Given the description of an element on the screen output the (x, y) to click on. 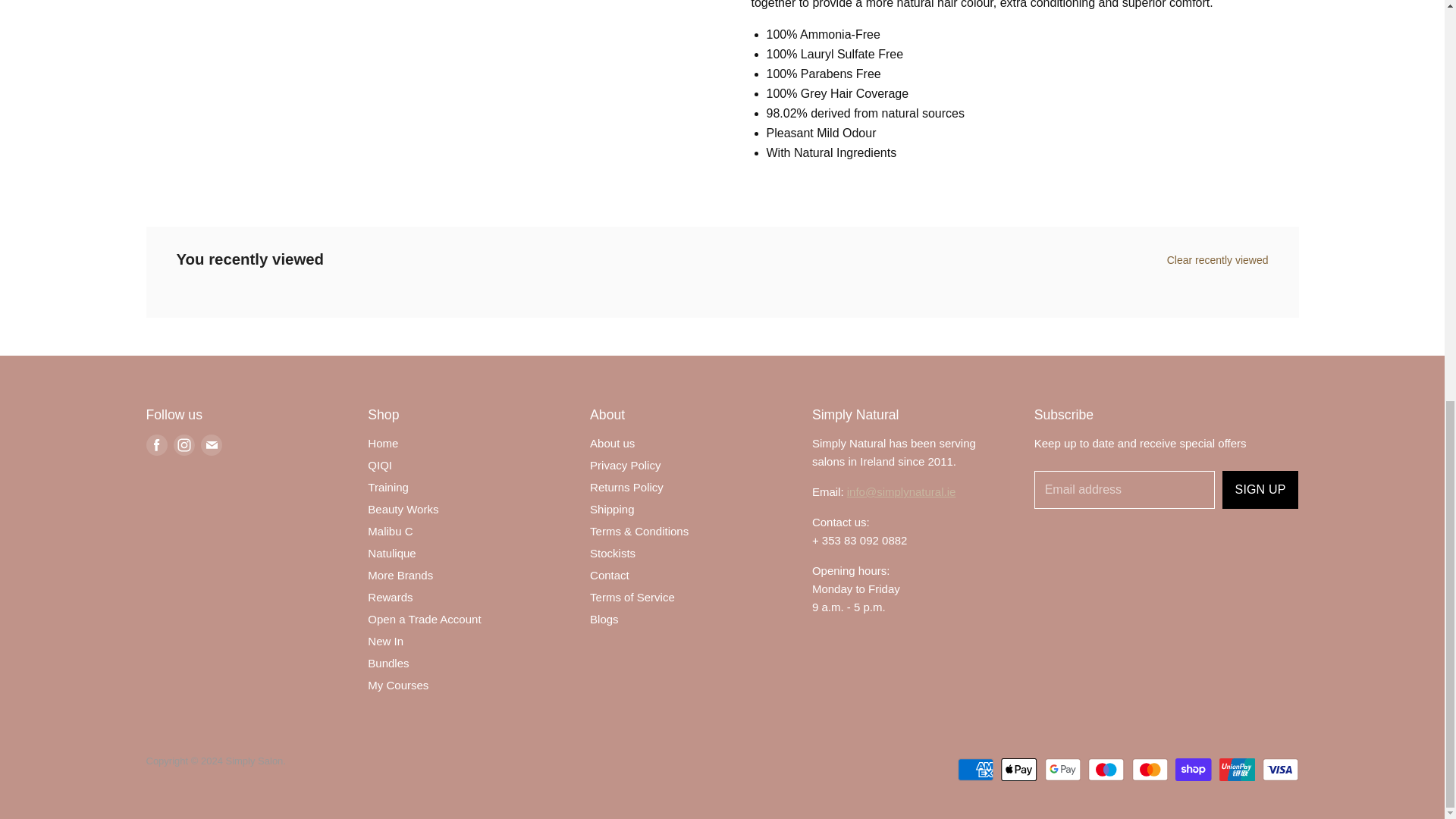
Instagram (183, 444)
Facebook (156, 444)
E-mail (210, 444)
